Given the description of an element on the screen output the (x, y) to click on. 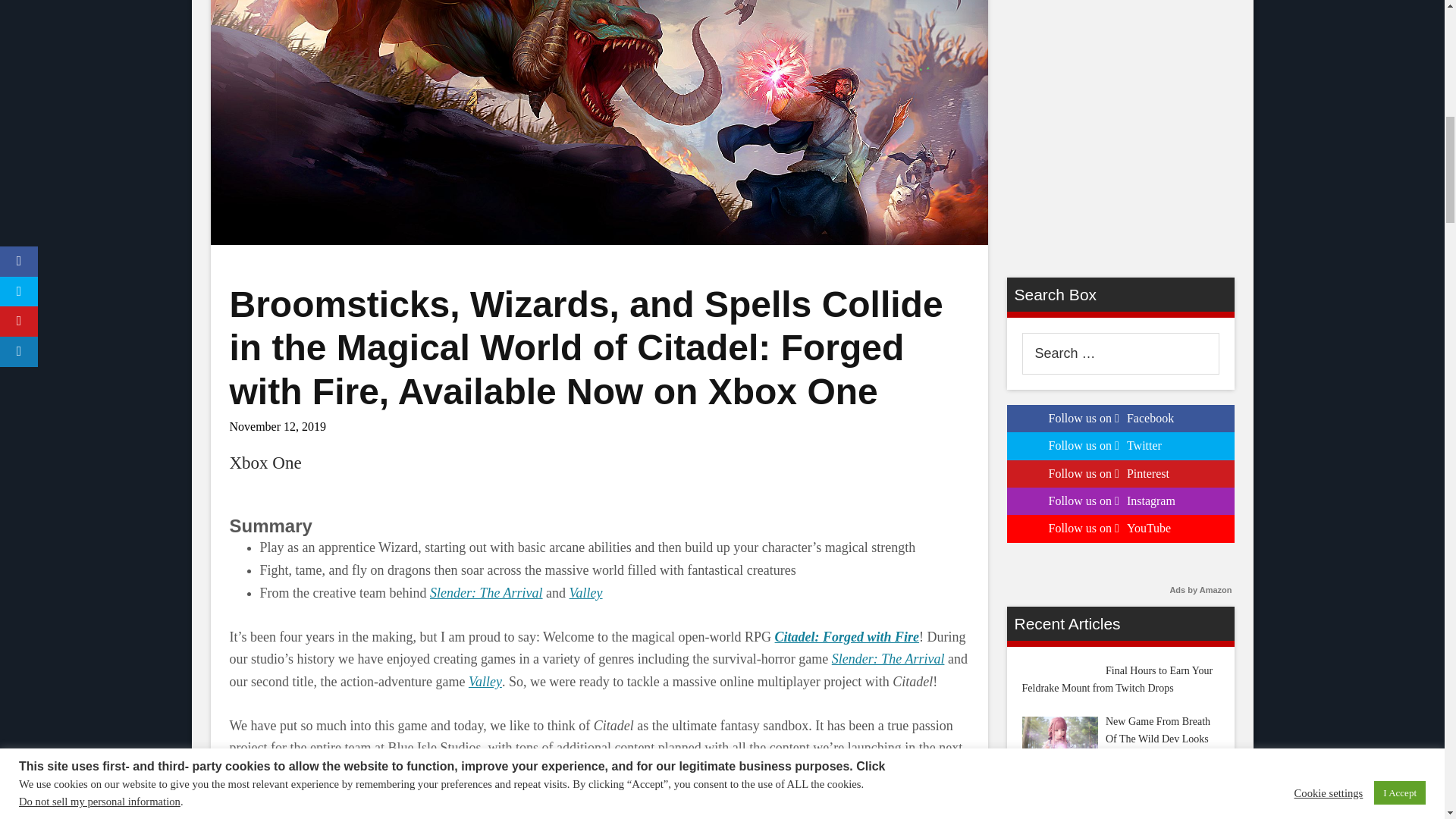
Xbox One (264, 462)
